Given the description of an element on the screen output the (x, y) to click on. 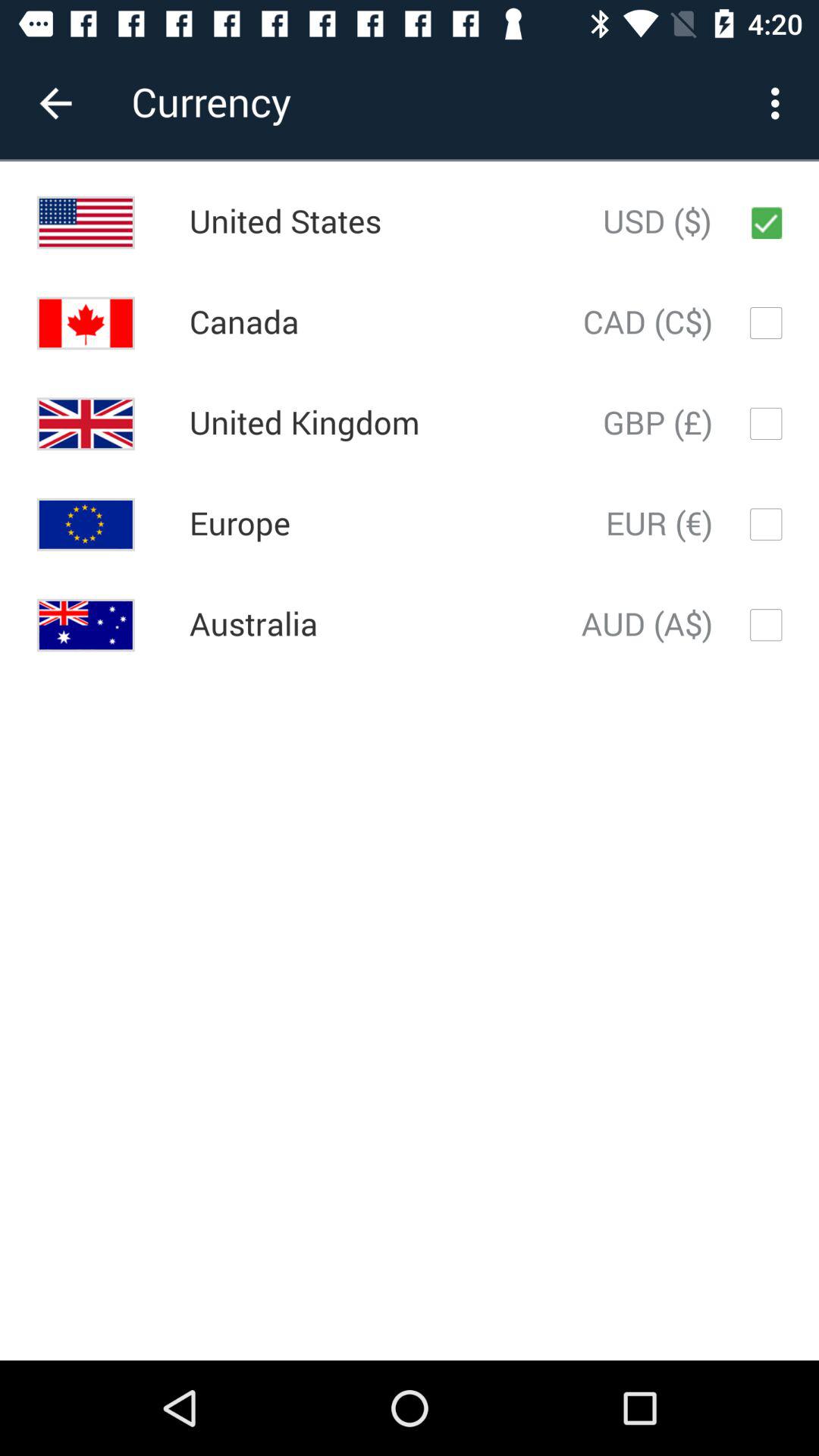
press cad (c$) icon (647, 322)
